Given the description of an element on the screen output the (x, y) to click on. 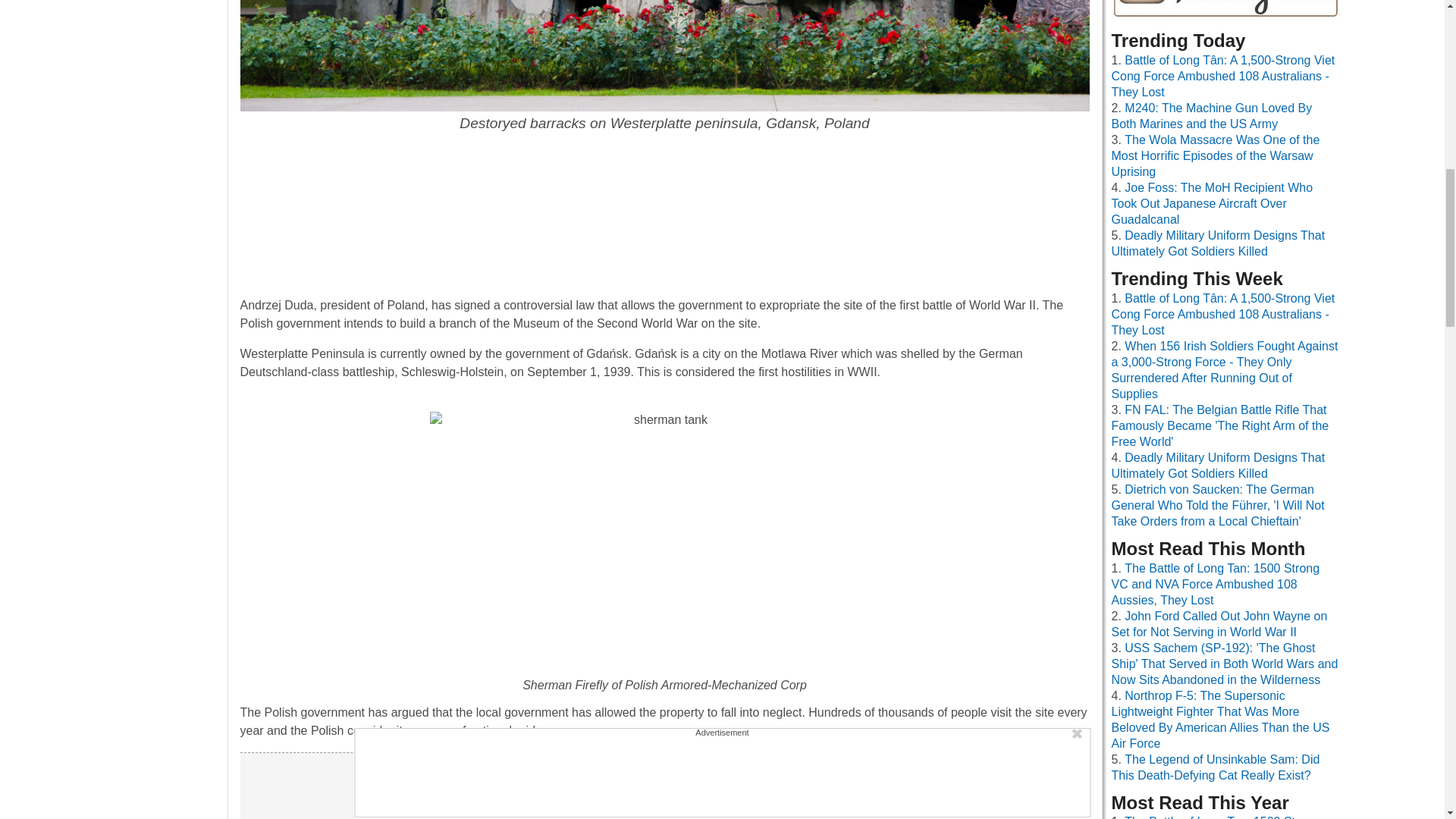
Destoryed barracks on Westerplatte peninsula, Gdansk, Poland (664, 66)
Destoryed barracks on Westerplatte peninsula, Gdansk, Poland (664, 56)
